Given the description of an element on the screen output the (x, y) to click on. 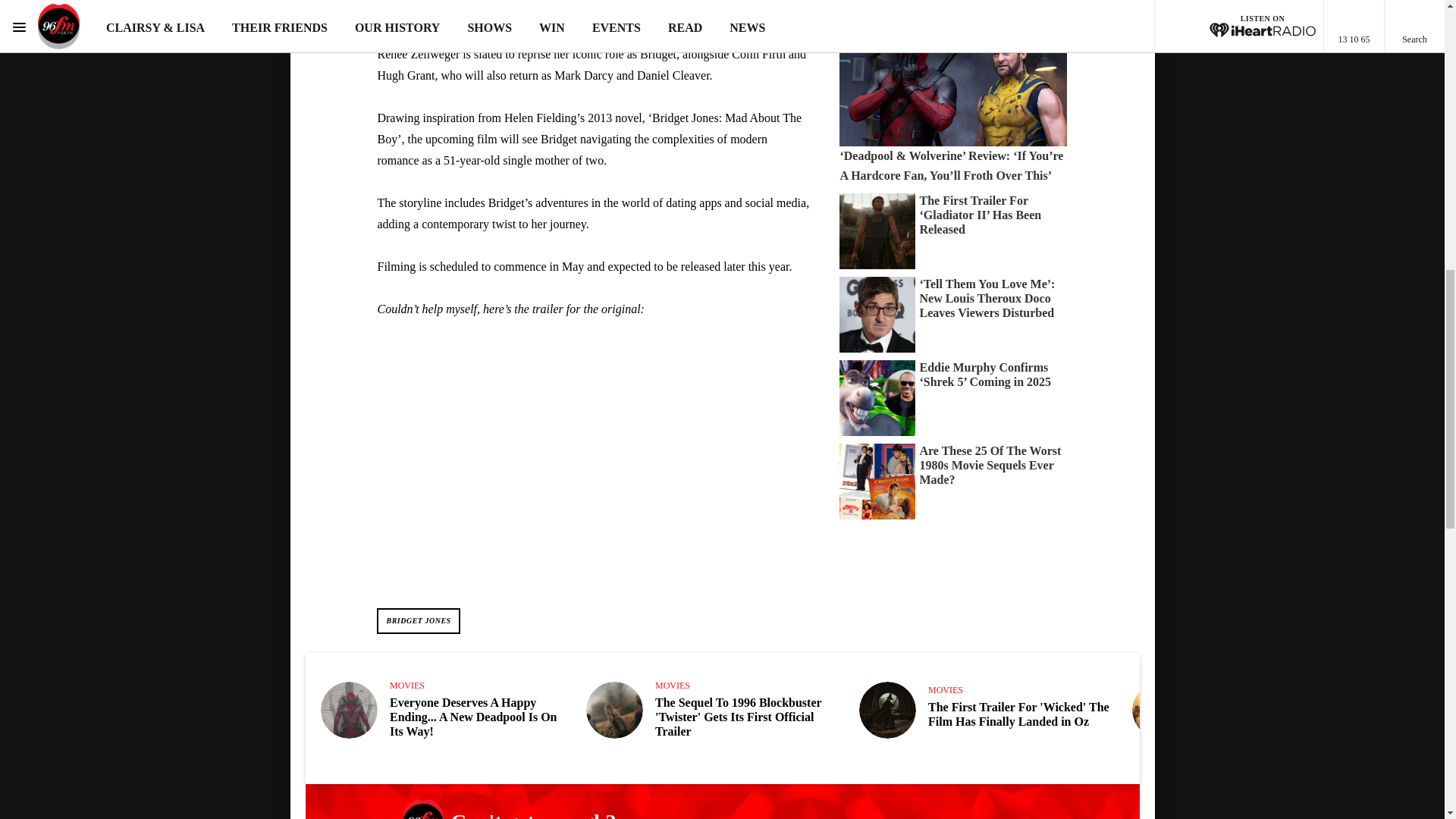
YouTube video player (589, 460)
